Given the description of an element on the screen output the (x, y) to click on. 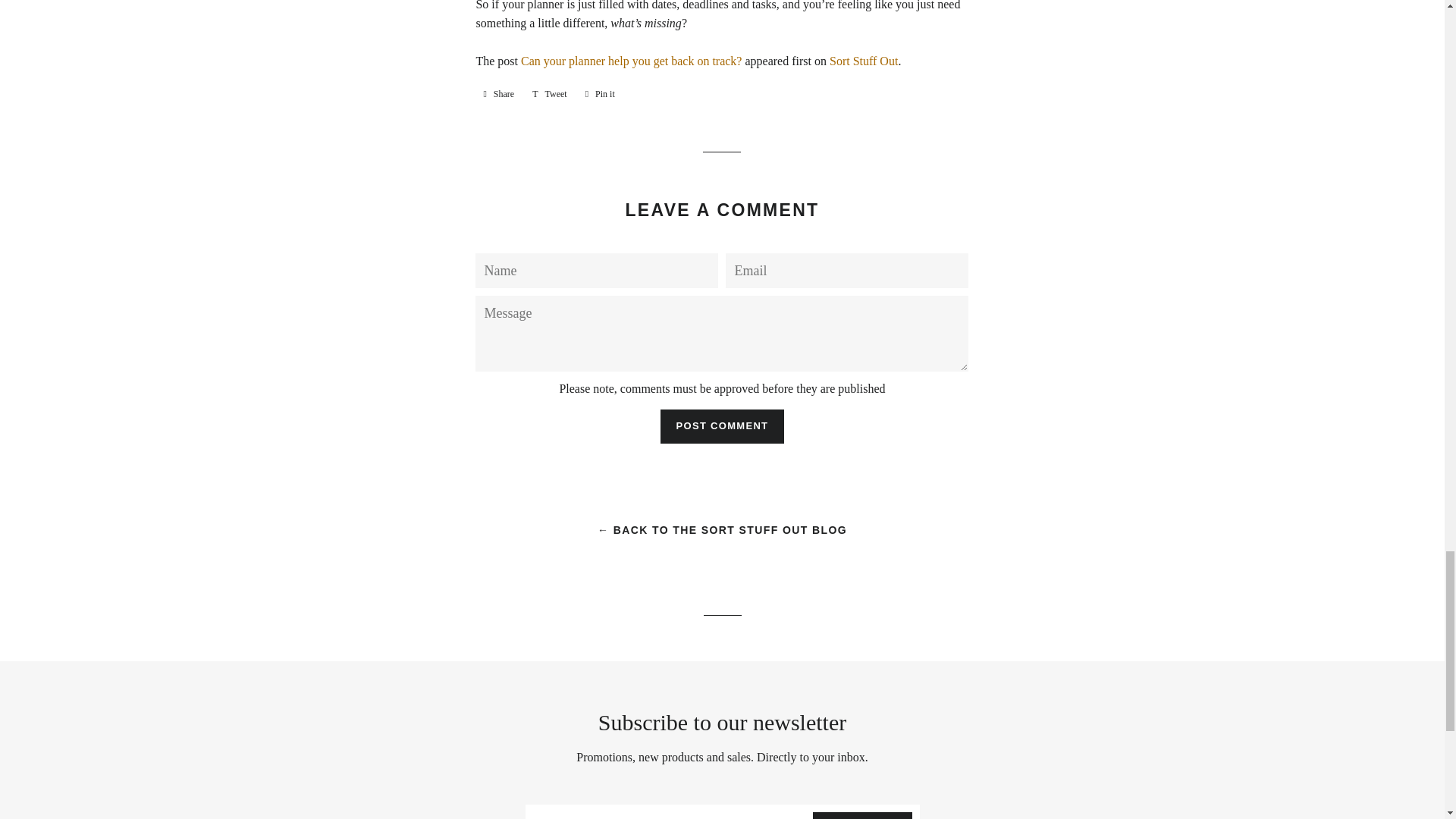
Share on Facebook (498, 93)
Pin on Pinterest (600, 93)
Post comment (722, 426)
Tweet on Twitter (549, 93)
